Given the description of an element on the screen output the (x, y) to click on. 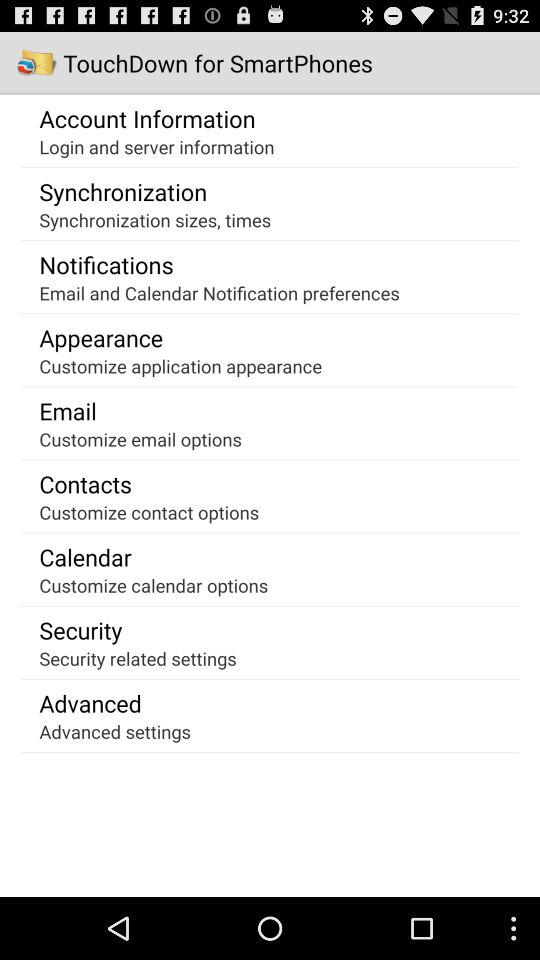
choose the app above email and calendar icon (106, 264)
